Given the description of an element on the screen output the (x, y) to click on. 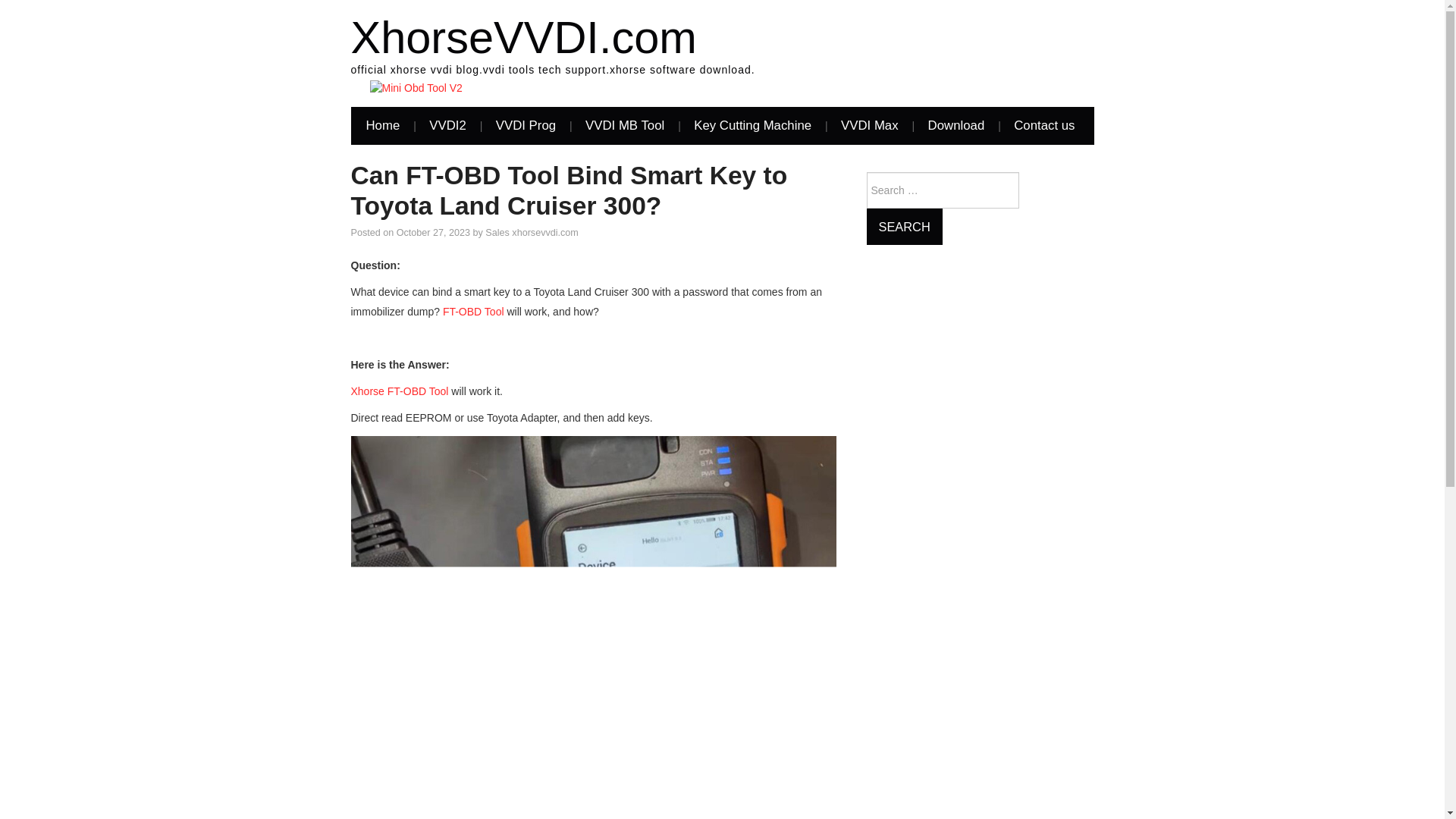
October 27, 2023 (433, 232)
Contact us (1043, 125)
Search (904, 226)
Xhorse FT-OBD Tool (399, 390)
7:43 am (433, 232)
VVDI MB Tool (624, 125)
View all posts by Sales xhorsevvdi.com (531, 232)
VVDI2 (447, 125)
Search for: (941, 189)
FT-OBD Tool (472, 311)
